Given the description of an element on the screen output the (x, y) to click on. 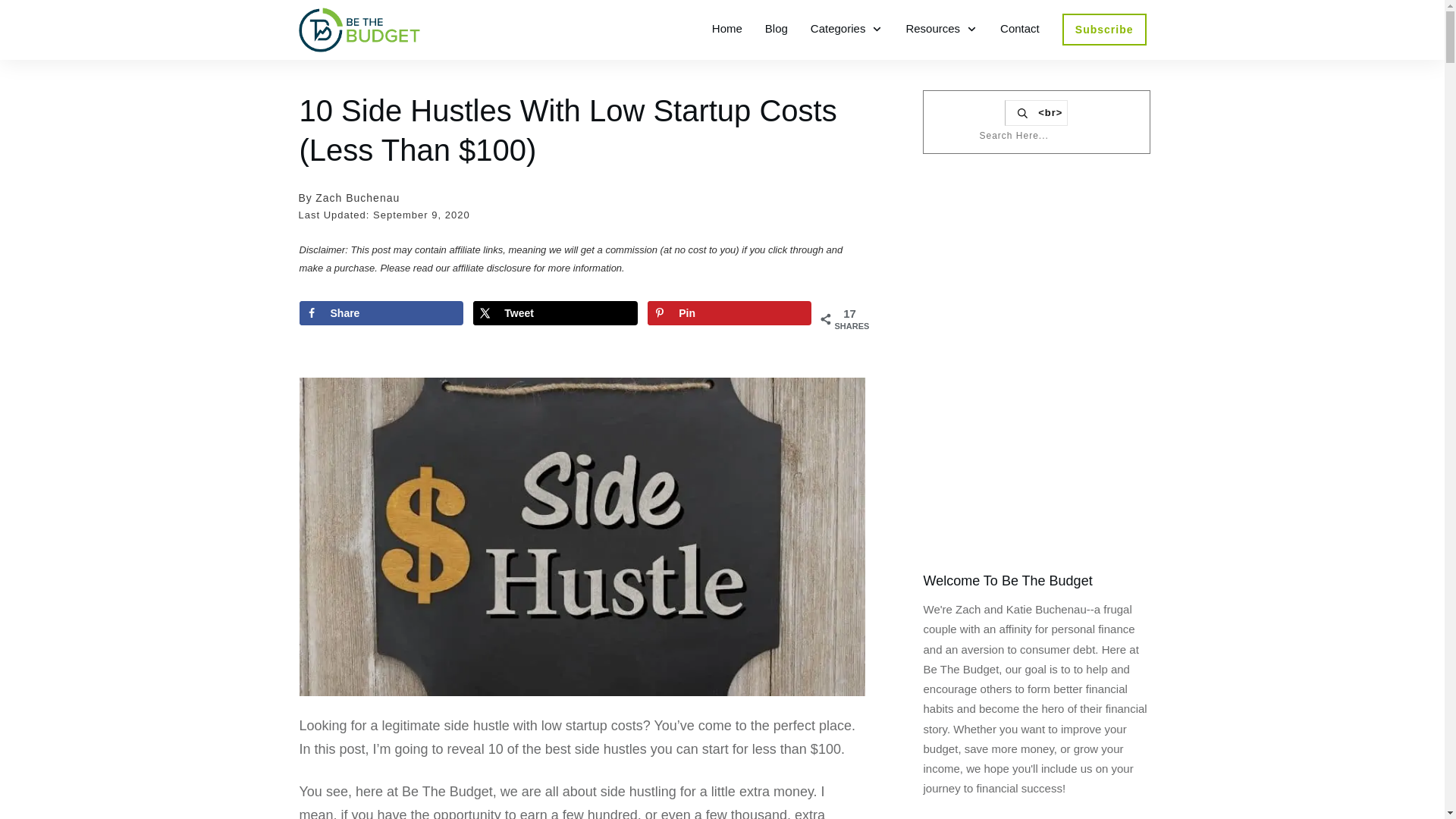
Blog (776, 28)
Share on Facebook (380, 313)
Save to Pinterest (728, 313)
Resources (940, 28)
Share (380, 313)
Tweet (555, 313)
Share on X (555, 313)
Contact (1019, 28)
Pin (728, 313)
Home (726, 28)
Categories (846, 28)
Subscribe (1104, 29)
